Given the description of an element on the screen output the (x, y) to click on. 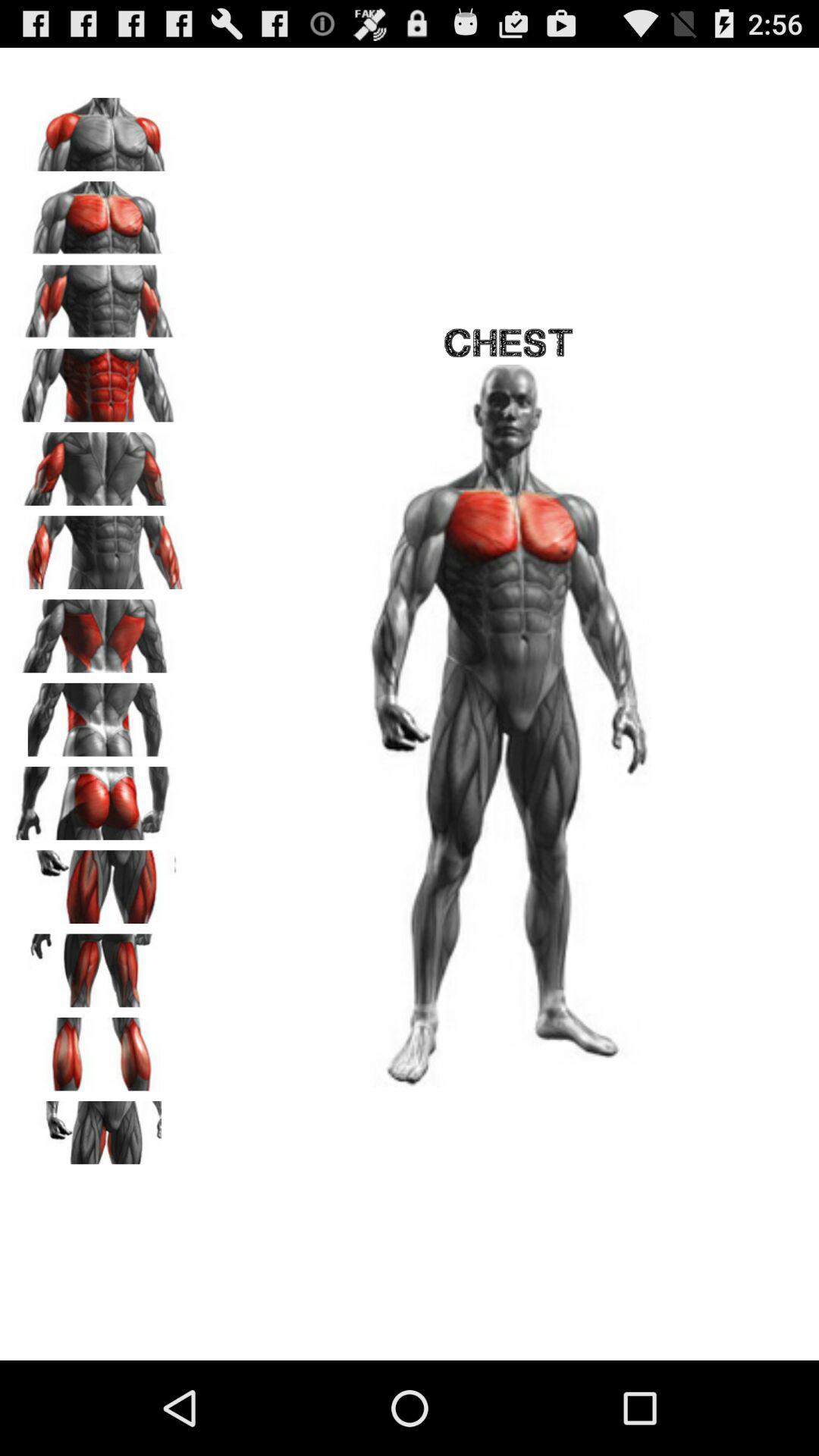
click to work this body part (99, 714)
